Given the description of an element on the screen output the (x, y) to click on. 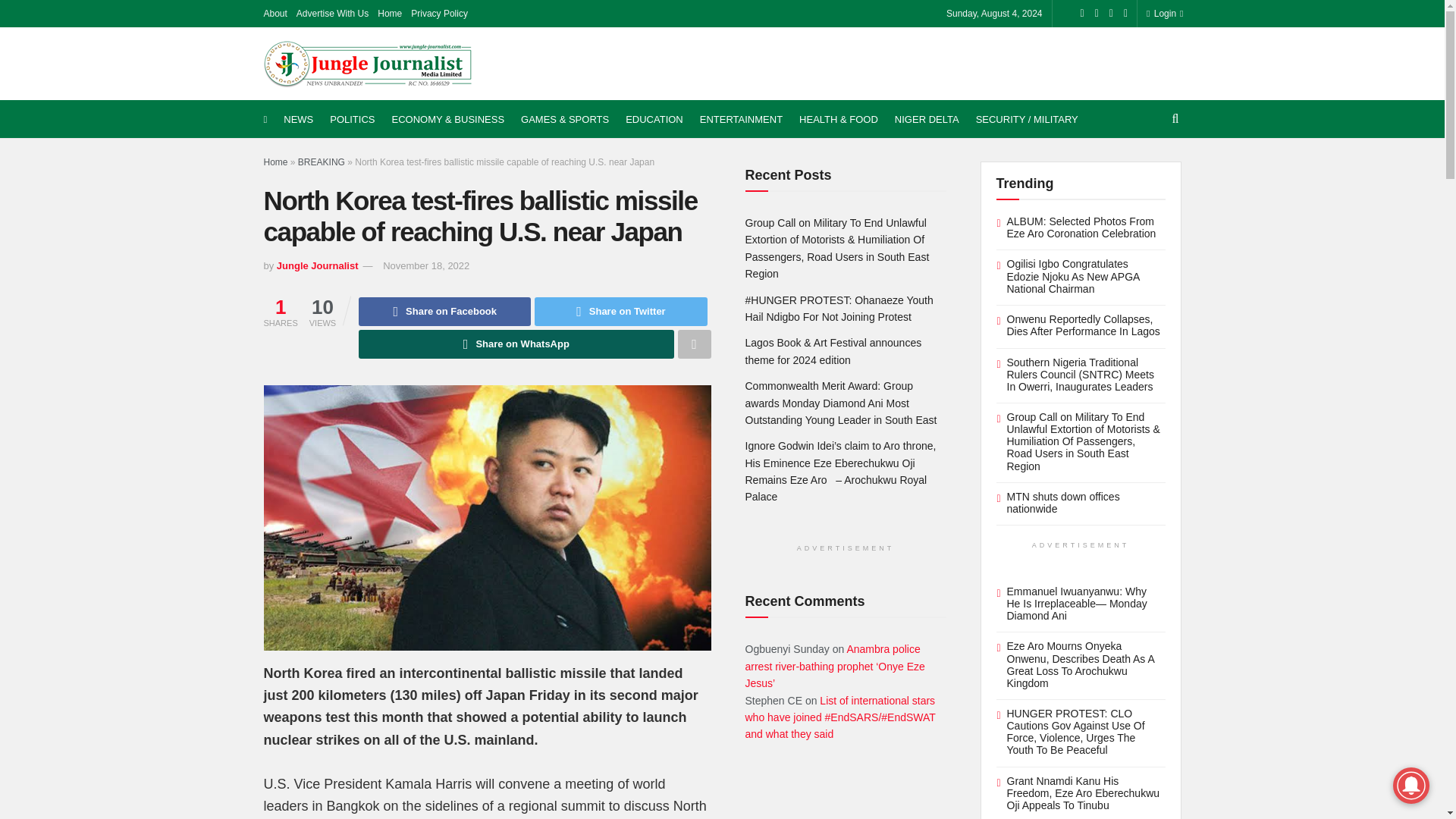
Login (1161, 13)
NIGER DELTA (927, 119)
EDUCATION (654, 119)
Advertise With Us (332, 13)
POLITICS (352, 119)
Privacy Policy (438, 13)
ENTERTAINMENT (741, 119)
NEWS (298, 119)
